Given the description of an element on the screen output the (x, y) to click on. 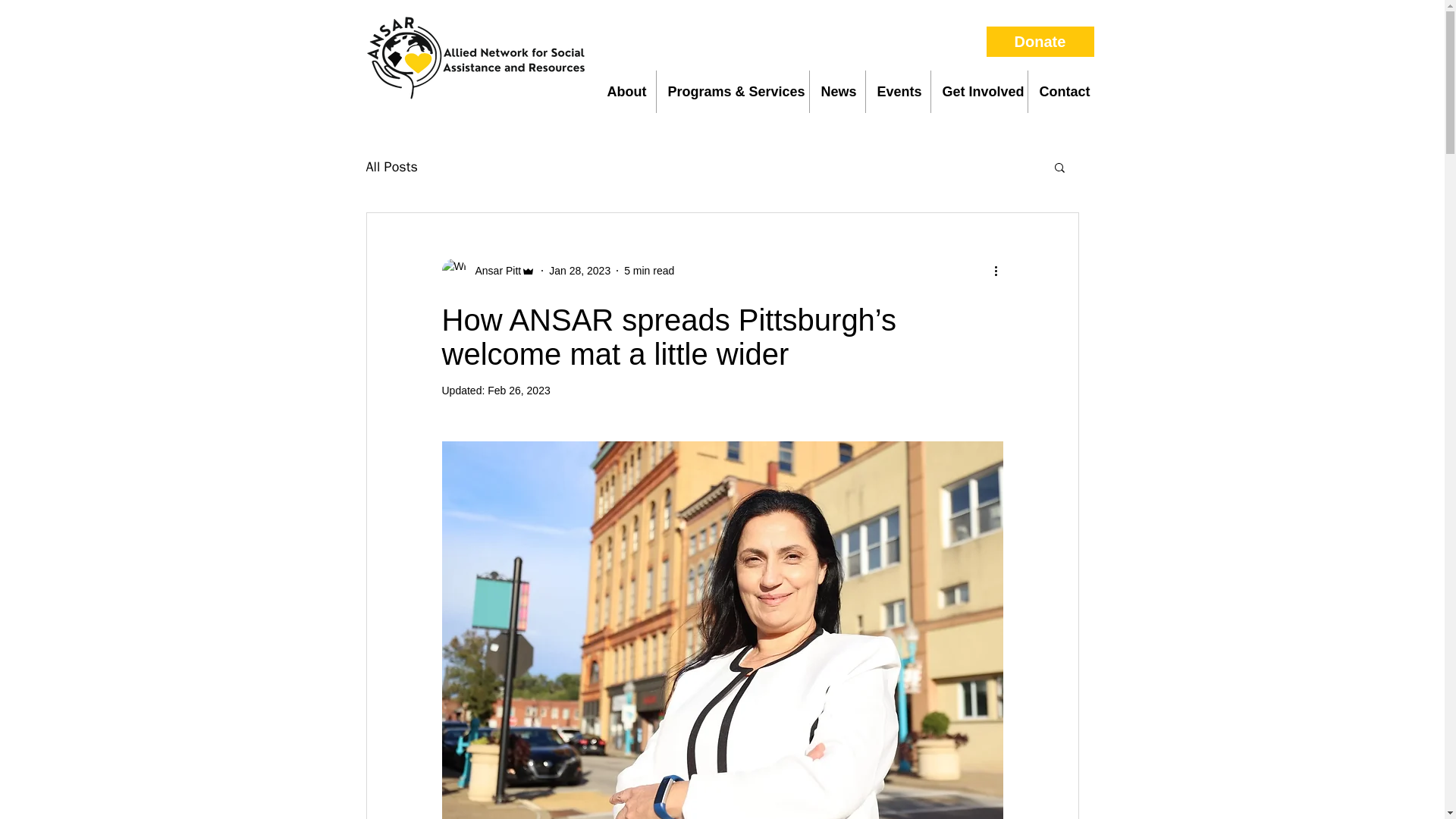
Jan 28, 2023 (579, 269)
Contact (1063, 91)
Ansar Pitt (488, 270)
Donate (1039, 41)
ANSAR - CONCEPT 2 copy 01 Artboard 1.jpg (469, 59)
News (836, 91)
5 min read (649, 269)
Feb 26, 2023 (518, 390)
Get Involved (979, 91)
All Posts (390, 167)
